Given the description of an element on the screen output the (x, y) to click on. 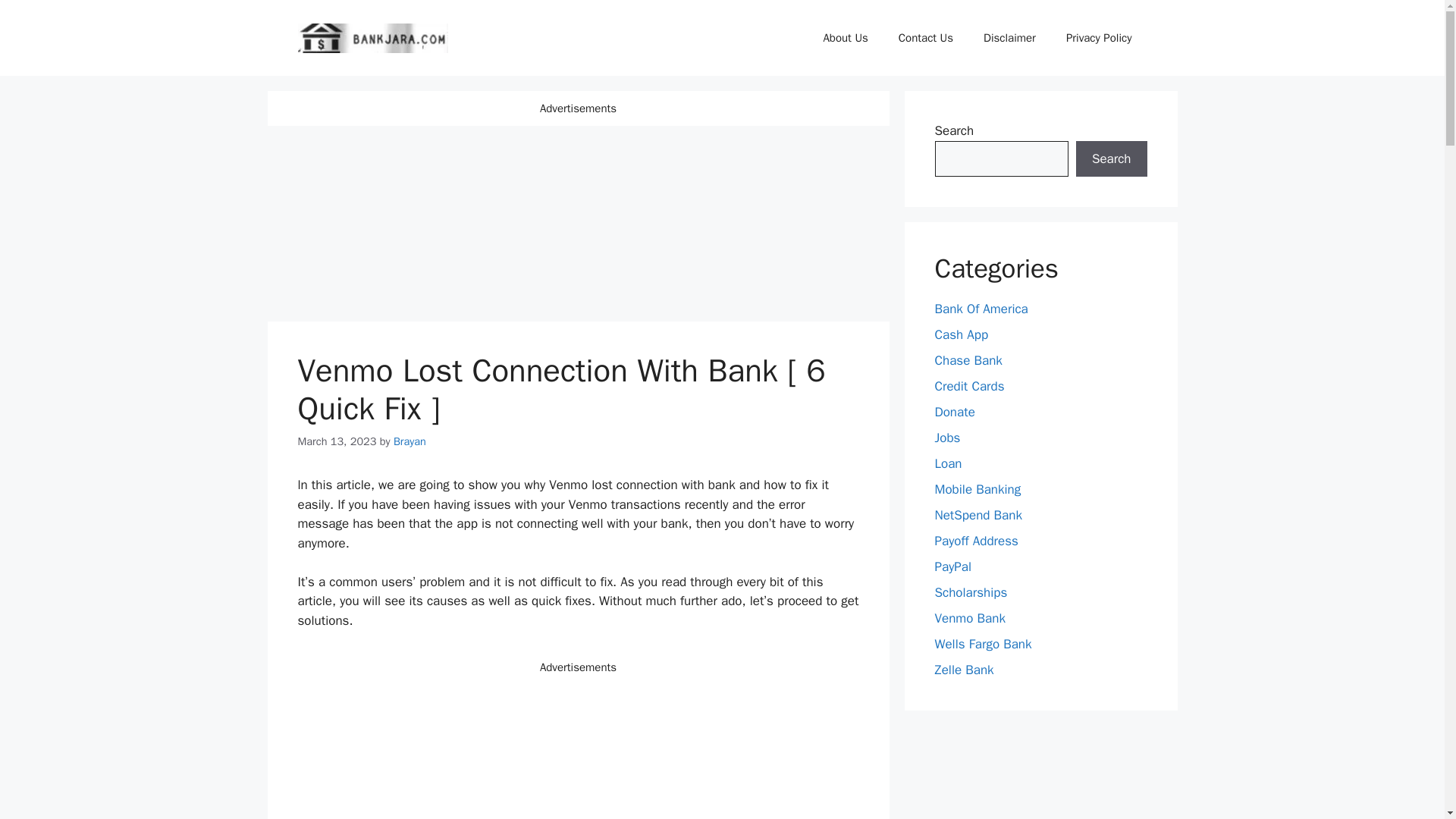
View all posts by Brayan (409, 440)
Venmo Bank (969, 618)
Loan (947, 463)
Scholarships (970, 592)
PayPal (952, 566)
Payoff Address (975, 540)
Chase Bank (967, 360)
Donate (954, 412)
Bank Of America (980, 308)
Contact Us (925, 37)
